Given the description of an element on the screen output the (x, y) to click on. 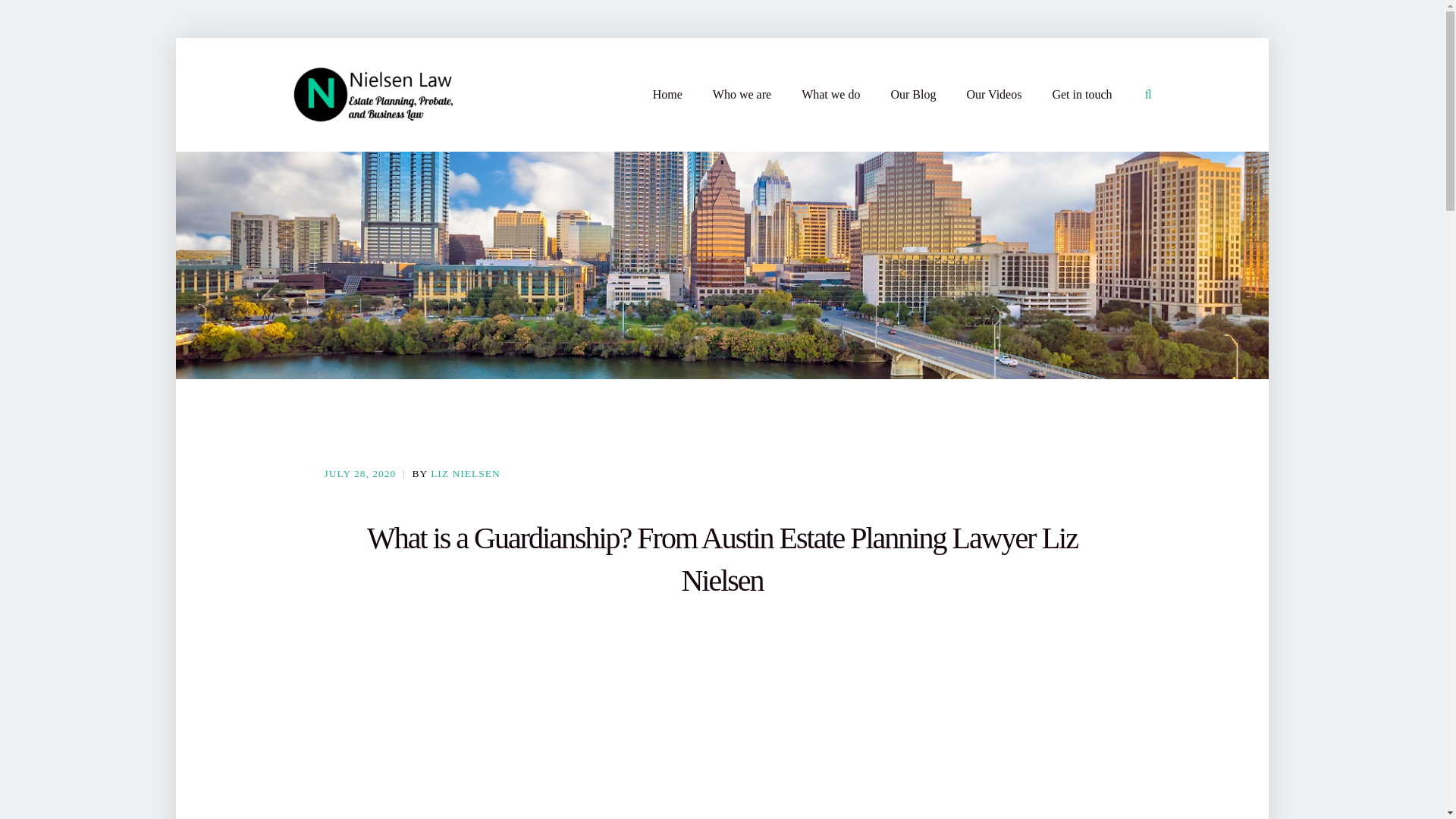
Our Blog (912, 94)
Home (667, 94)
Get in touch (1081, 94)
Who we are (742, 94)
Our Videos (994, 94)
What we do (831, 94)
